Given the description of an element on the screen output the (x, y) to click on. 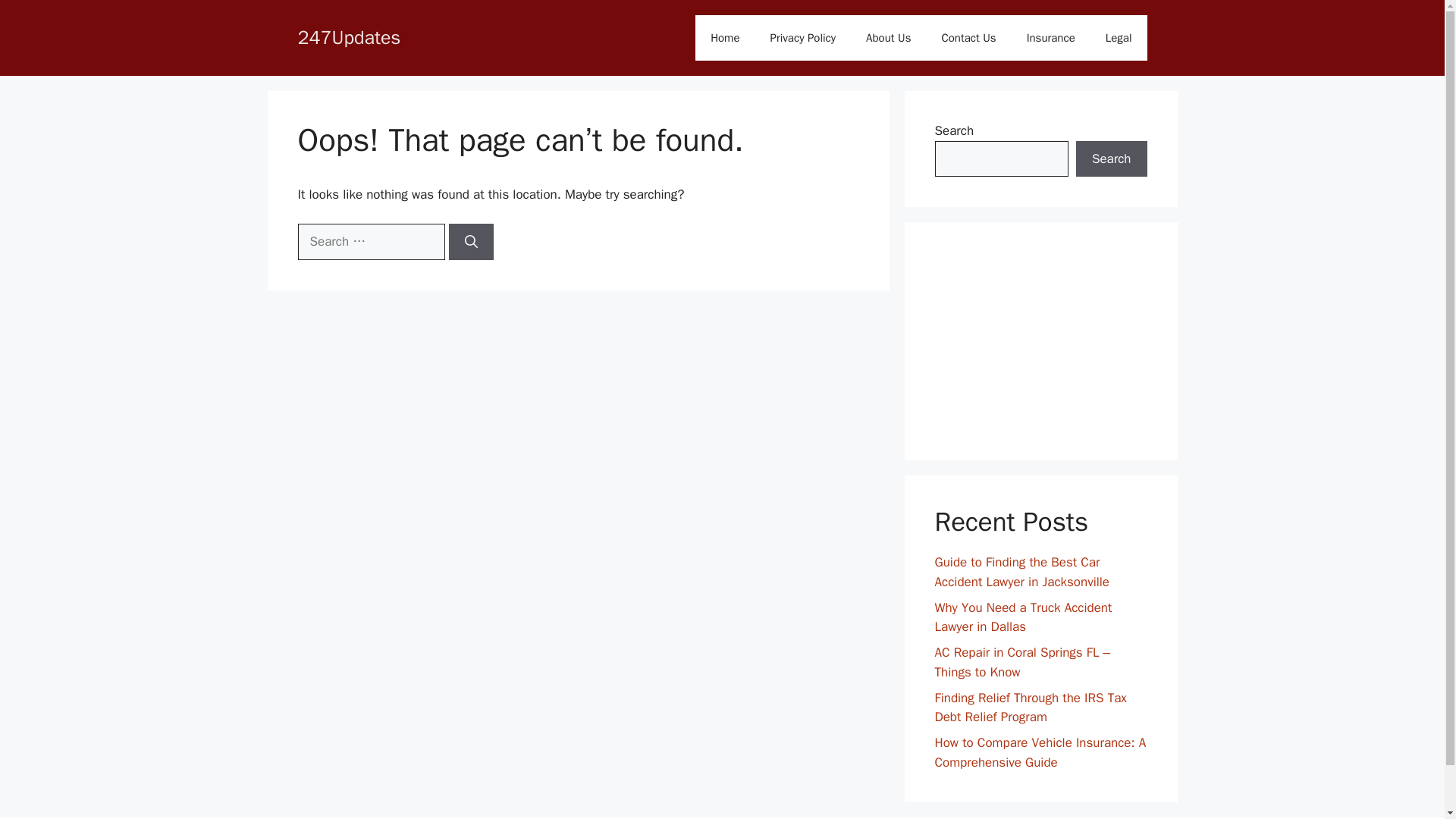
Contact Us (968, 37)
Home (724, 37)
Why You Need a Truck Accident Lawyer in Dallas (1023, 616)
Advertisement (1040, 340)
Search (1111, 158)
Legal (1118, 37)
About Us (888, 37)
Insurance (1050, 37)
Privacy Policy (803, 37)
